Given the description of an element on the screen output the (x, y) to click on. 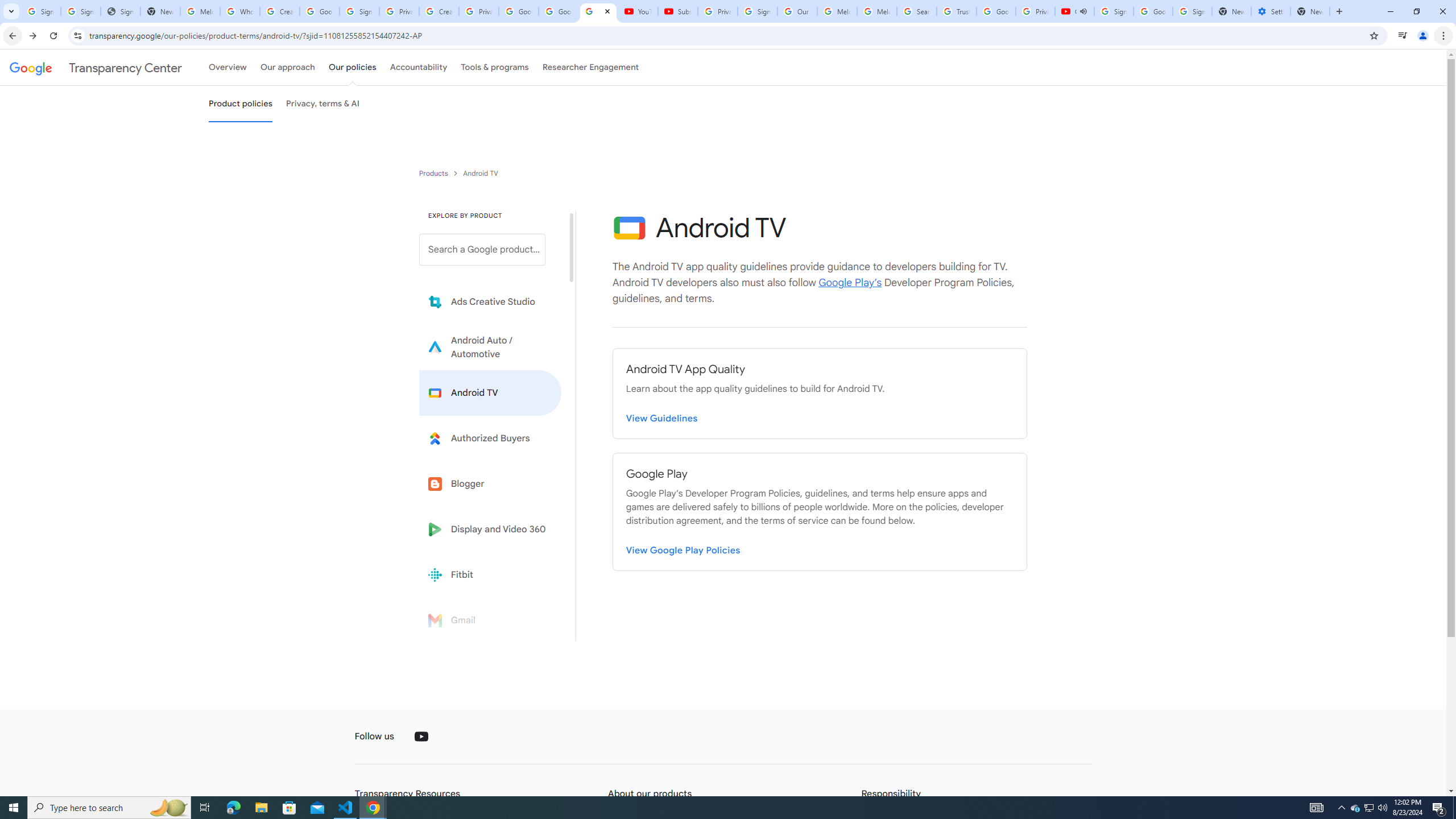
Fitbit (490, 574)
Sign in - Google Accounts (80, 11)
Product policies (434, 173)
Google Ads - Sign in (995, 11)
Sign in - Google Accounts (359, 11)
Learn more about Ads Creative Studio (490, 302)
YouTube (421, 736)
Learn more about Android TV (490, 393)
